Given the description of an element on the screen output the (x, y) to click on. 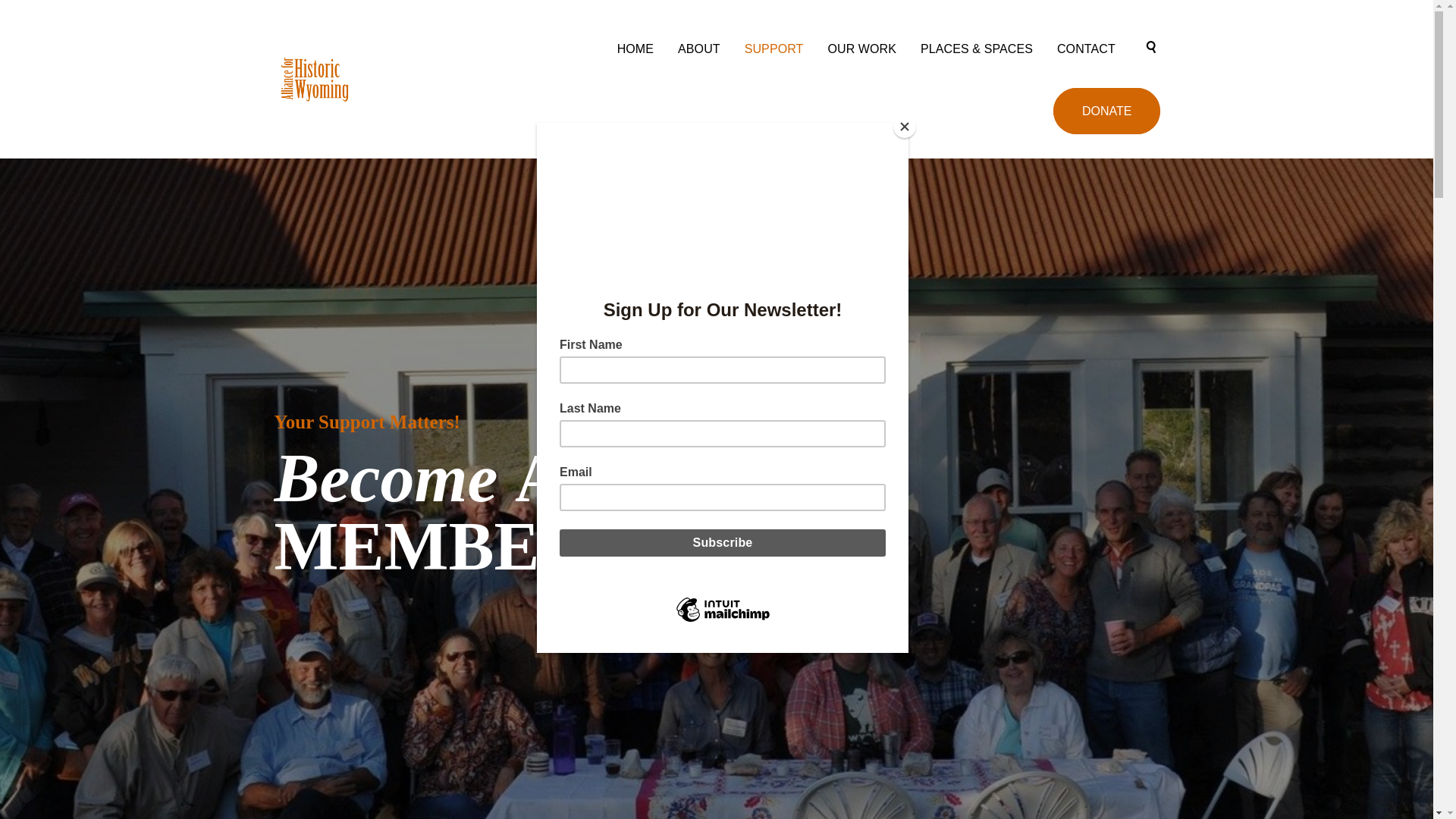
OUR WORK (861, 49)
ABOUT (698, 49)
HOME (635, 49)
SUPPORT (773, 49)
DONATE (1106, 111)
CONTACT (1085, 49)
